Given the description of an element on the screen output the (x, y) to click on. 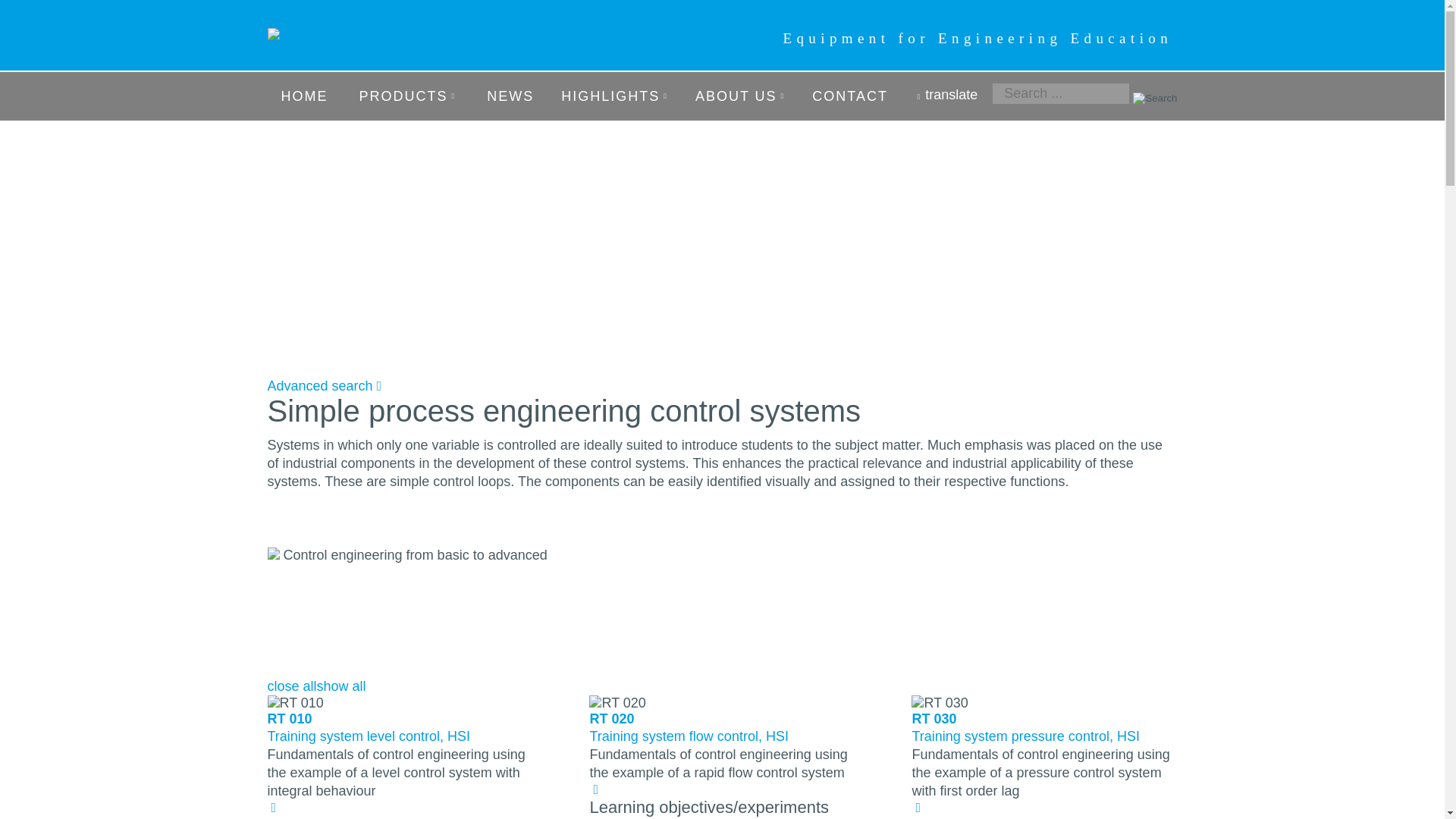
RT 020 (617, 703)
Control engineering from basic to advanced (274, 554)
RT 030 (939, 703)
RT 010 (294, 703)
